Given the description of an element on the screen output the (x, y) to click on. 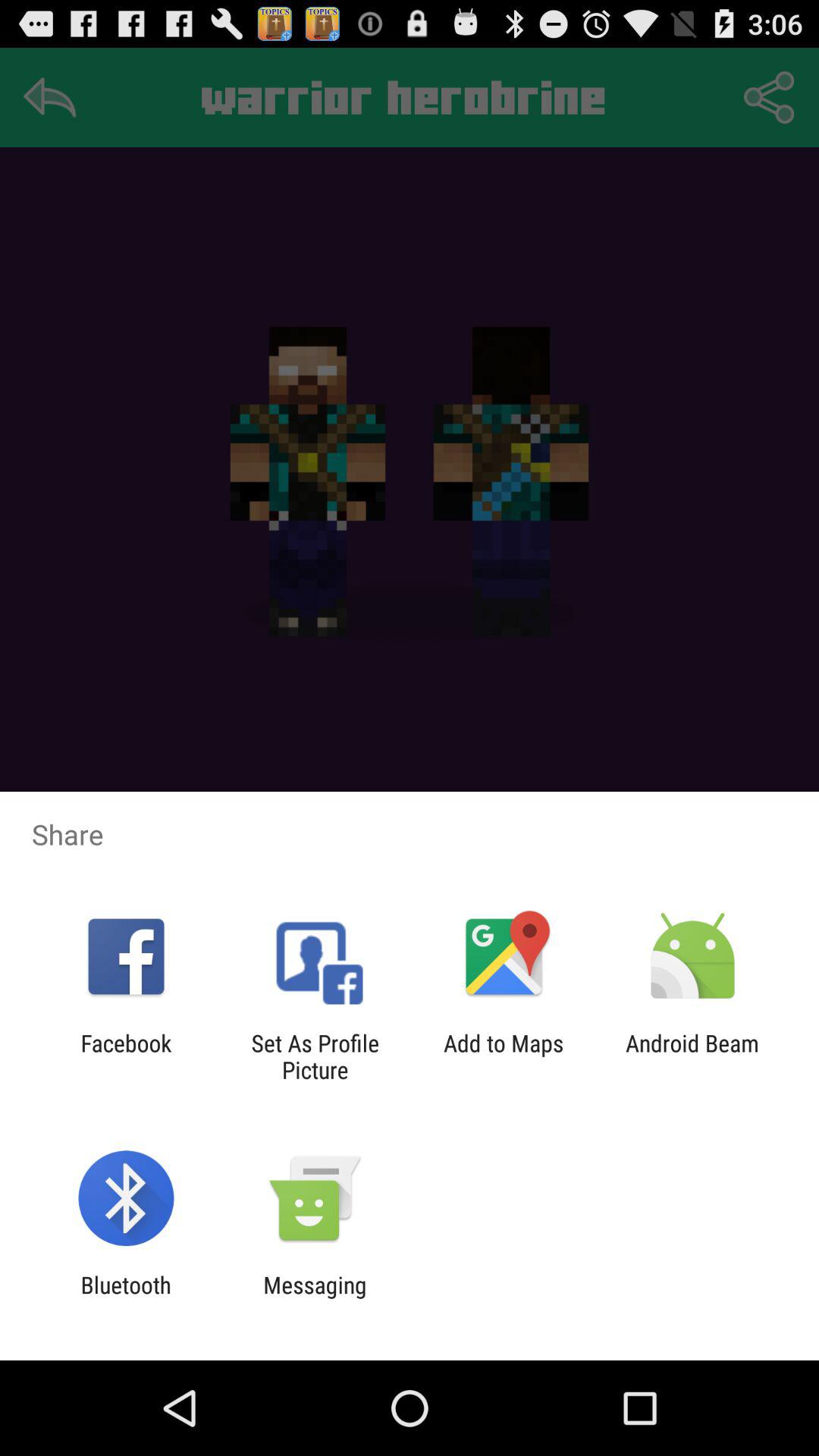
flip until the messaging item (314, 1298)
